Given the description of an element on the screen output the (x, y) to click on. 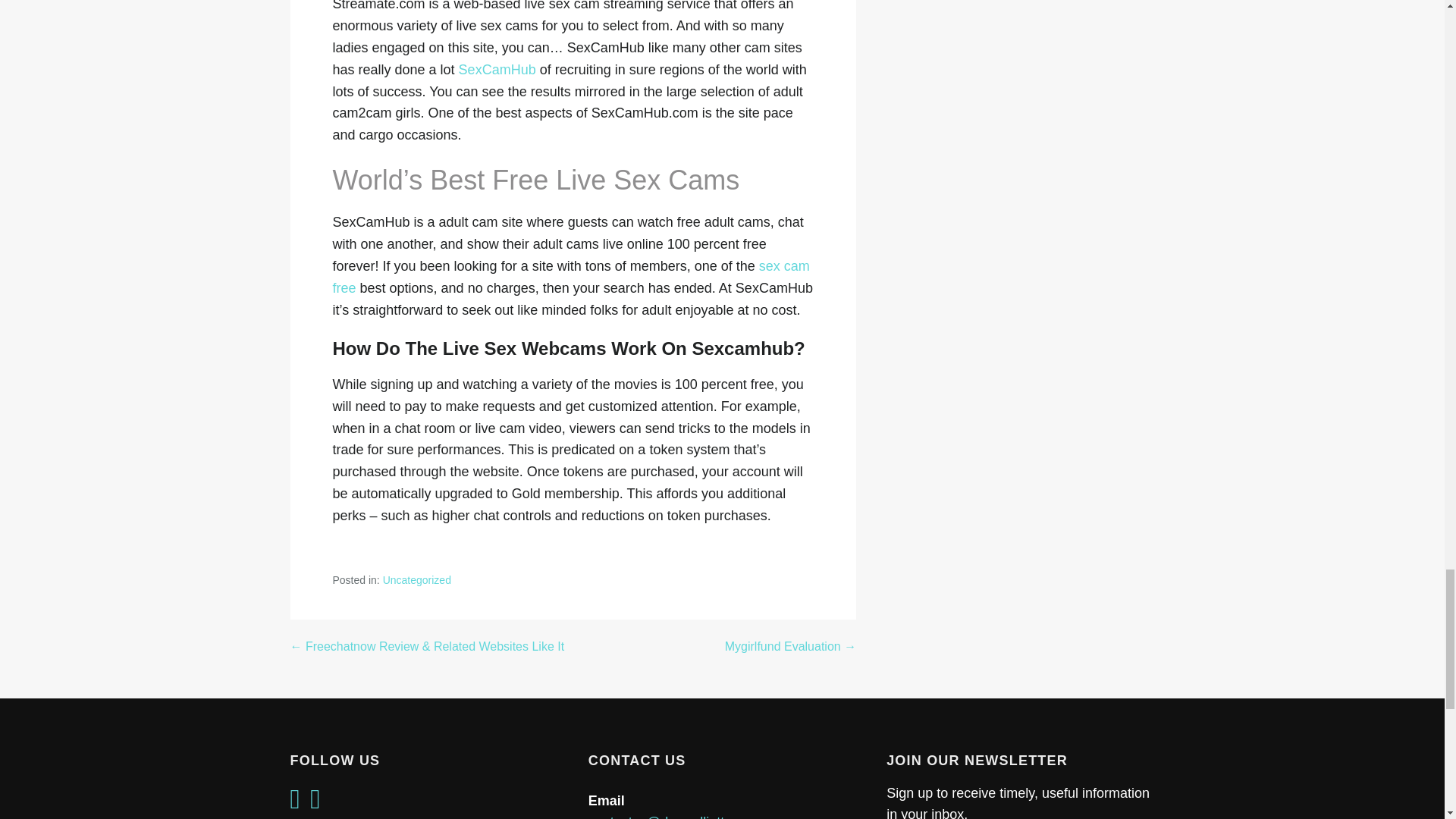
Uncategorized (416, 579)
sex cam free (570, 276)
Visit Cosmetic Dentist in NKY and Cincinnati on Instagram (315, 803)
SexCamHub (496, 69)
Visit Cosmetic Dentist in NKY and Cincinnati on Facebook (294, 803)
